Given the description of an element on the screen output the (x, y) to click on. 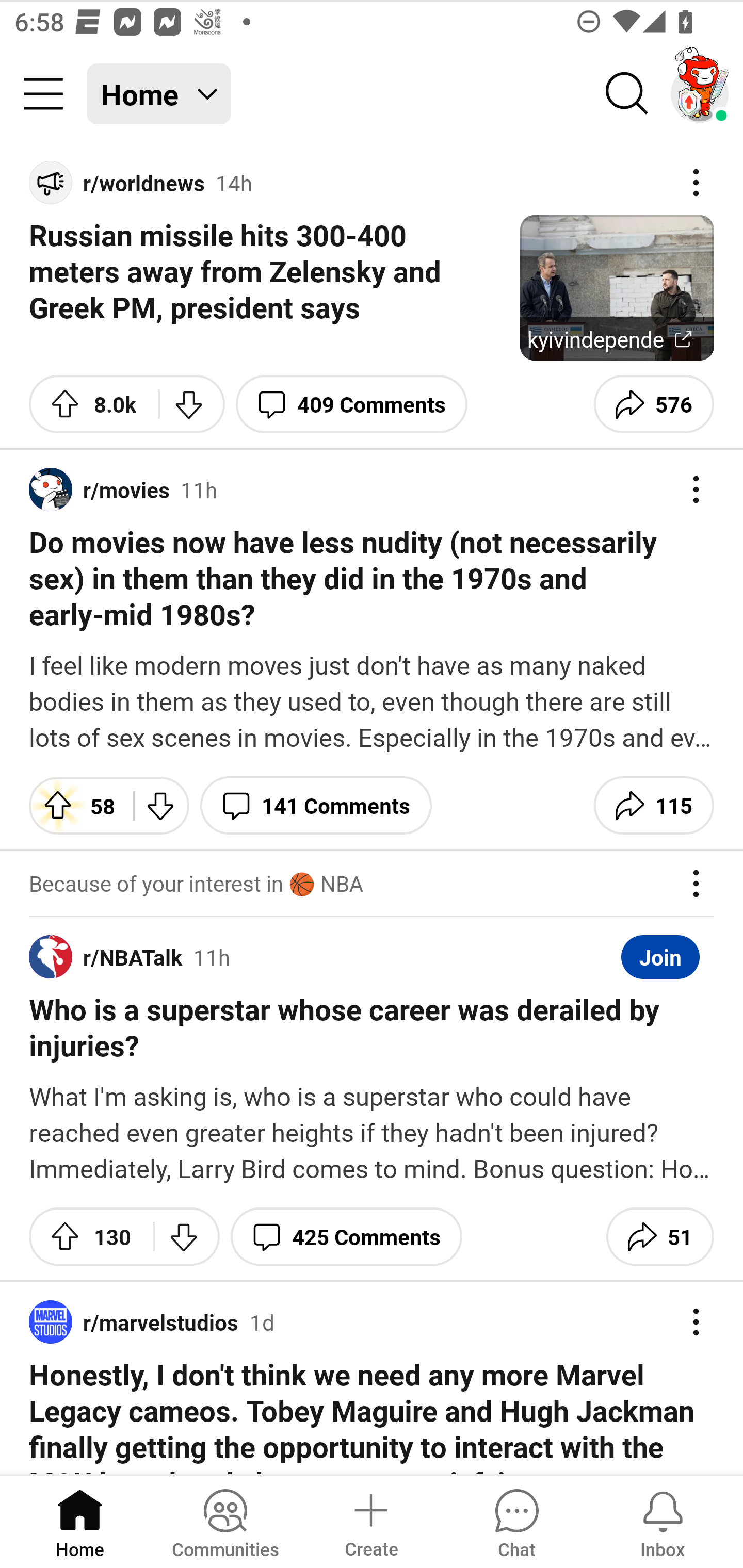
Community menu (43, 93)
Home Home feed (158, 93)
Search (626, 93)
TestAppium002 account (699, 93)
Home (80, 1520)
Communities (225, 1520)
Create a post Create (370, 1520)
Chat (516, 1520)
Inbox (662, 1520)
